Given the description of an element on the screen output the (x, y) to click on. 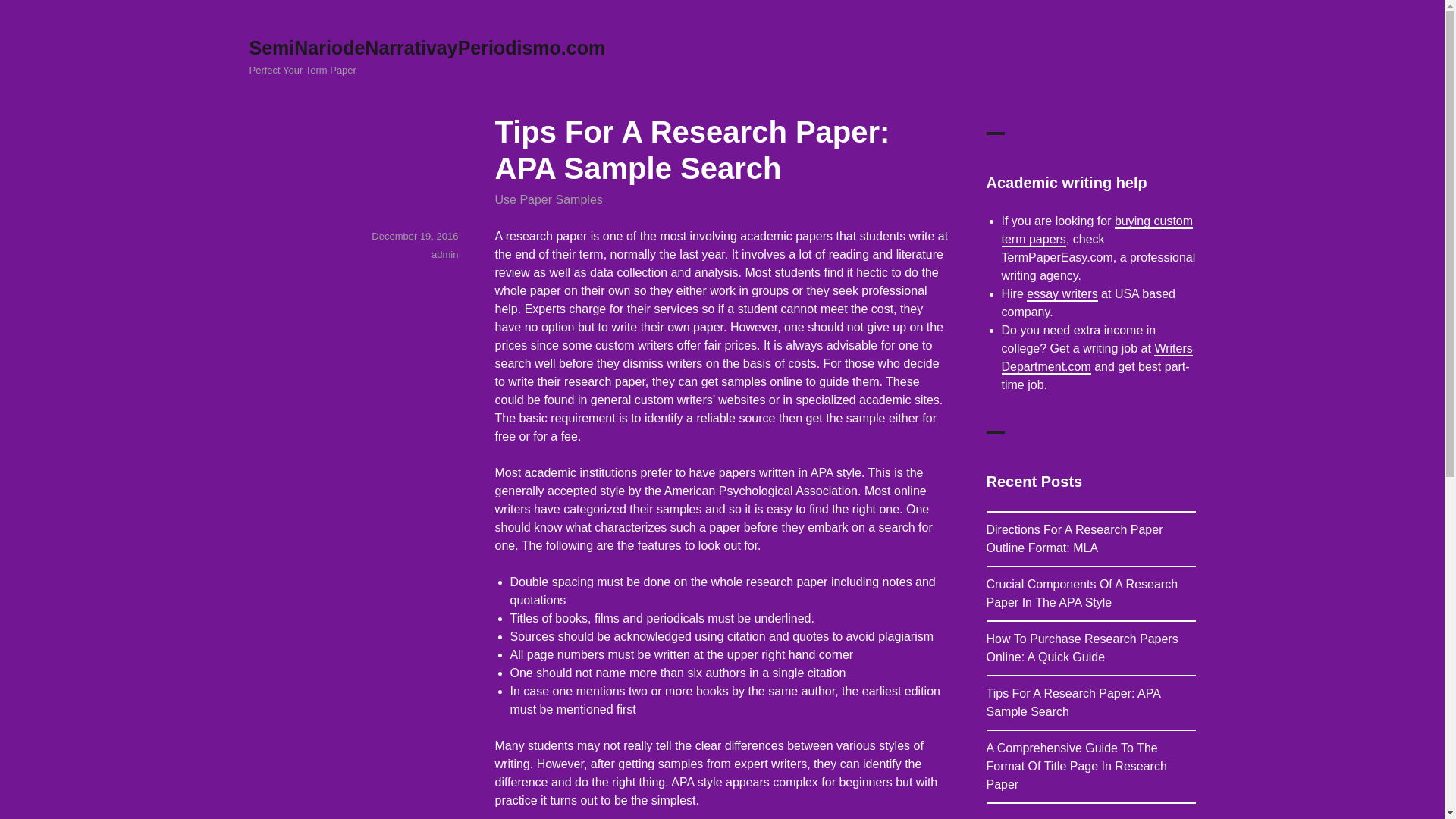
December 19, 2016 (414, 235)
SemiNariodeNarrativayPeriodismo.com (426, 47)
buying custom term papers (1096, 229)
How To Purchase Research Papers Online: A Quick Guide (1081, 647)
Tips For A Research Paper: APA Sample Search (1071, 702)
Use Paper Samples (548, 199)
admin (444, 254)
Writers Department.com (1096, 357)
Directions For A Research Paper Outline Format: MLA (1073, 538)
Crucial Components Of A Research Paper In The APA Style (1081, 593)
essay writers (1061, 293)
